Given the description of an element on the screen output the (x, y) to click on. 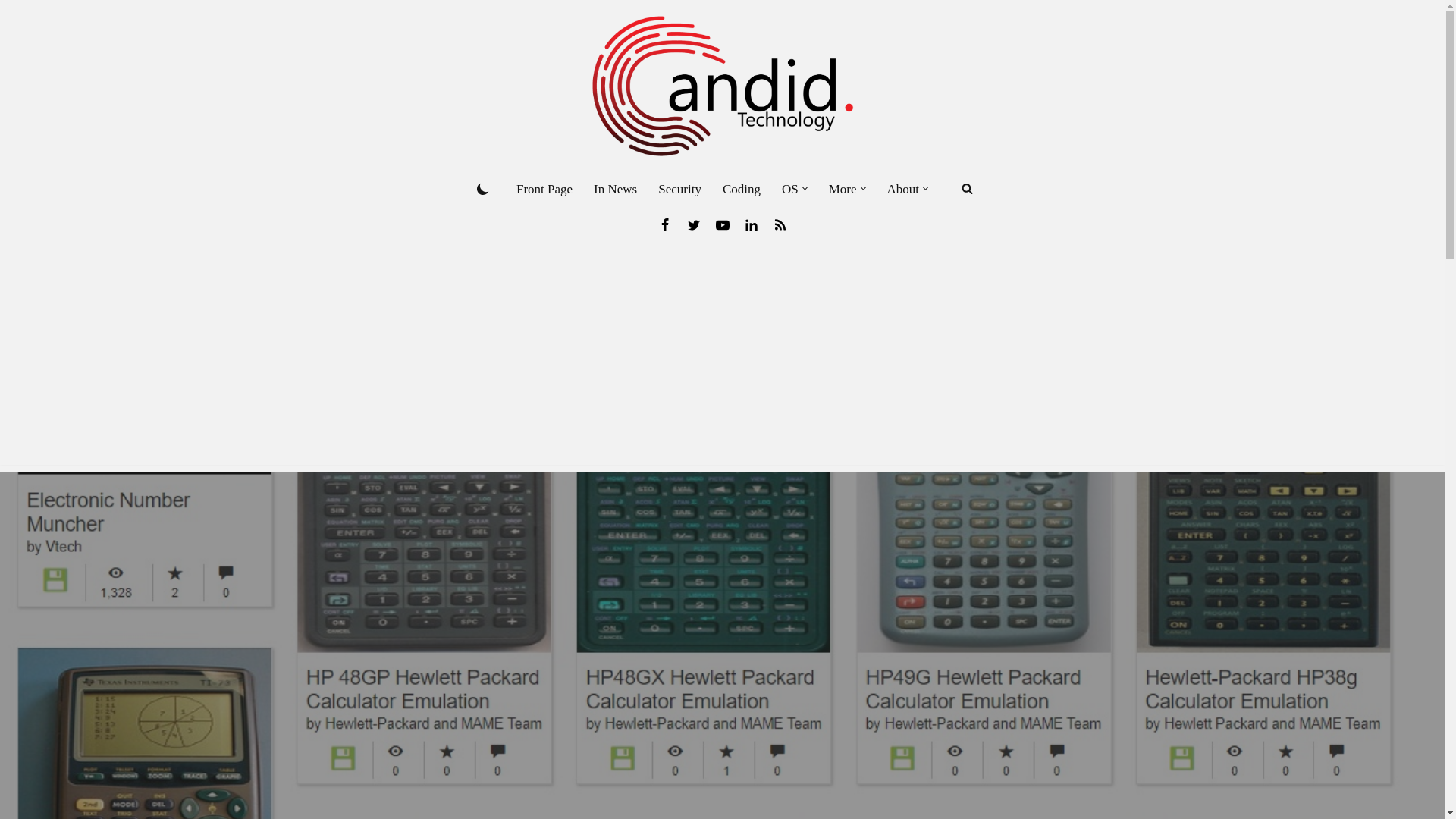
Security (679, 188)
More (842, 188)
Linkedin (750, 224)
Coding (741, 188)
OS (789, 188)
Youtube (721, 224)
Skip to content (11, 31)
Front Page (544, 188)
In News (615, 188)
News (779, 224)
Facebook (664, 224)
About (903, 188)
Twitter (692, 224)
